Given the description of an element on the screen output the (x, y) to click on. 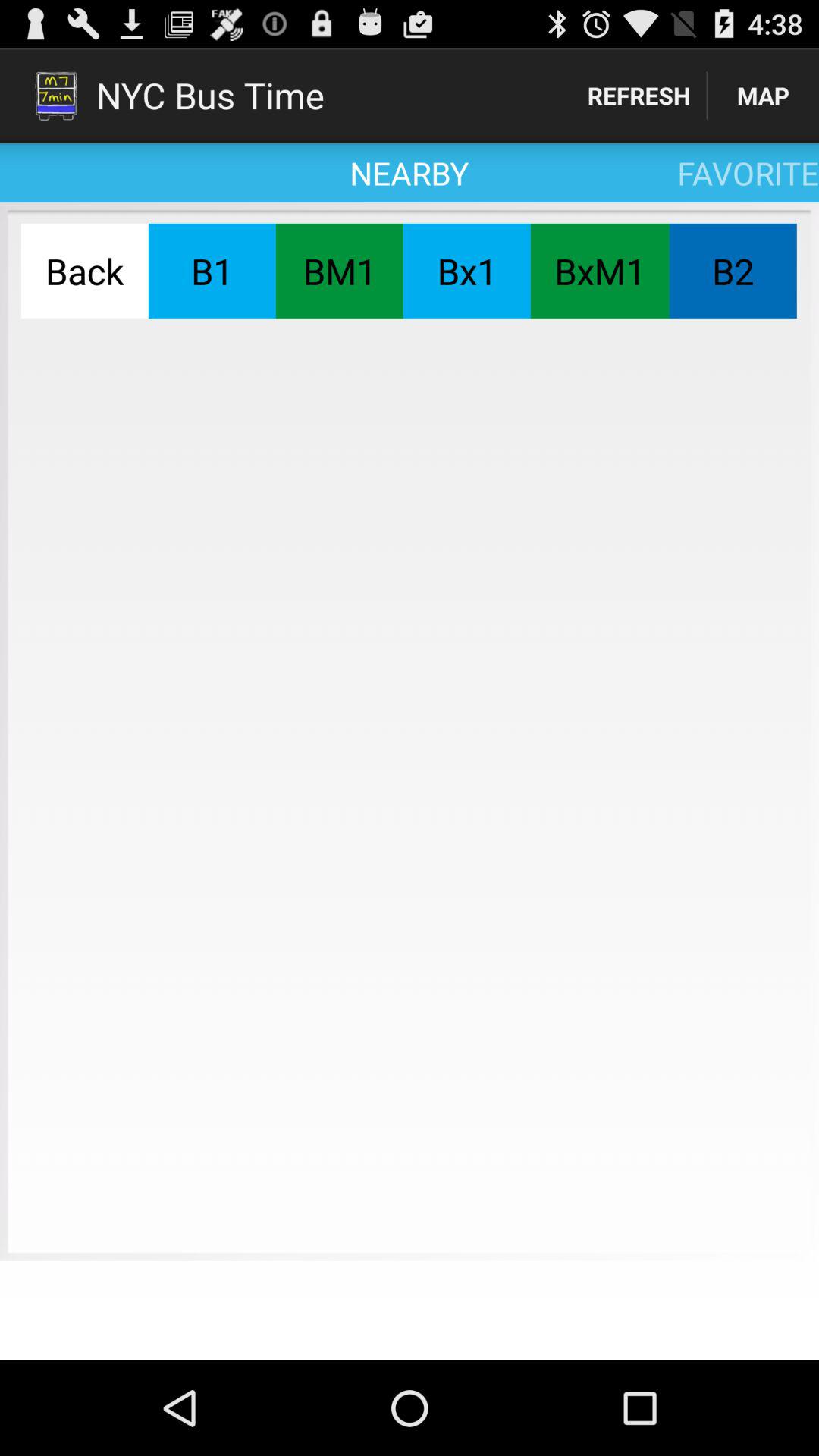
tap the button next to the bm1 button (211, 271)
